Given the description of an element on the screen output the (x, y) to click on. 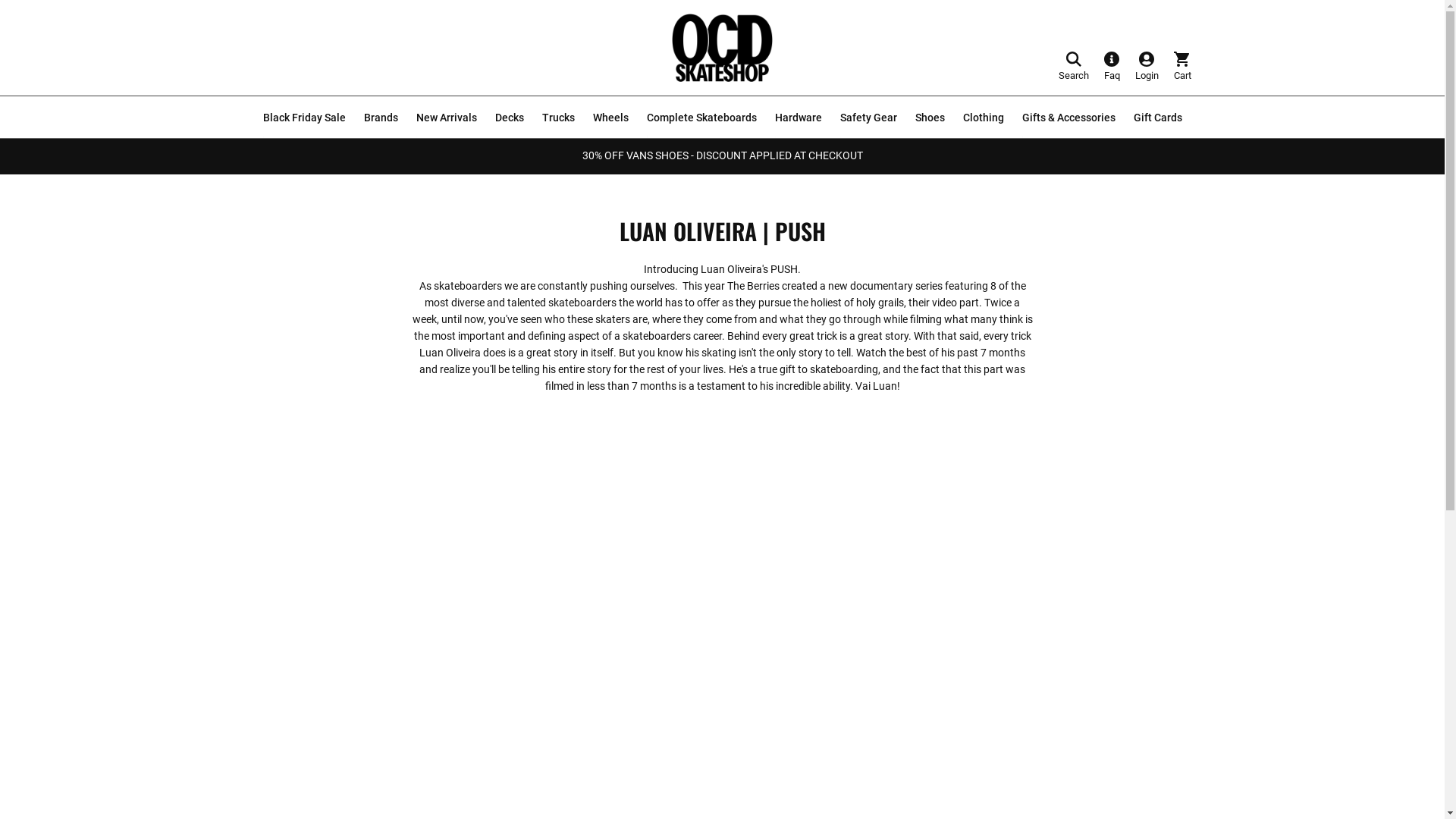
New Arrivals Element type: text (445, 117)
Cart Element type: text (1182, 65)
Search Element type: text (1073, 65)
Brands Element type: text (381, 117)
Gifts & Accessories Element type: text (1068, 117)
Faq Element type: text (1112, 65)
Shoes Element type: text (929, 117)
Complete Skateboards Element type: text (701, 117)
Hardware Element type: text (798, 117)
Wheels Element type: text (610, 117)
Gift Cards Element type: text (1156, 117)
Decks Element type: text (508, 117)
Trucks Element type: text (557, 117)
Safety Gear Element type: text (868, 117)
Black Friday Sale Element type: text (303, 117)
Login Element type: text (1145, 65)
Clothing Element type: text (983, 117)
